Given the description of an element on the screen output the (x, y) to click on. 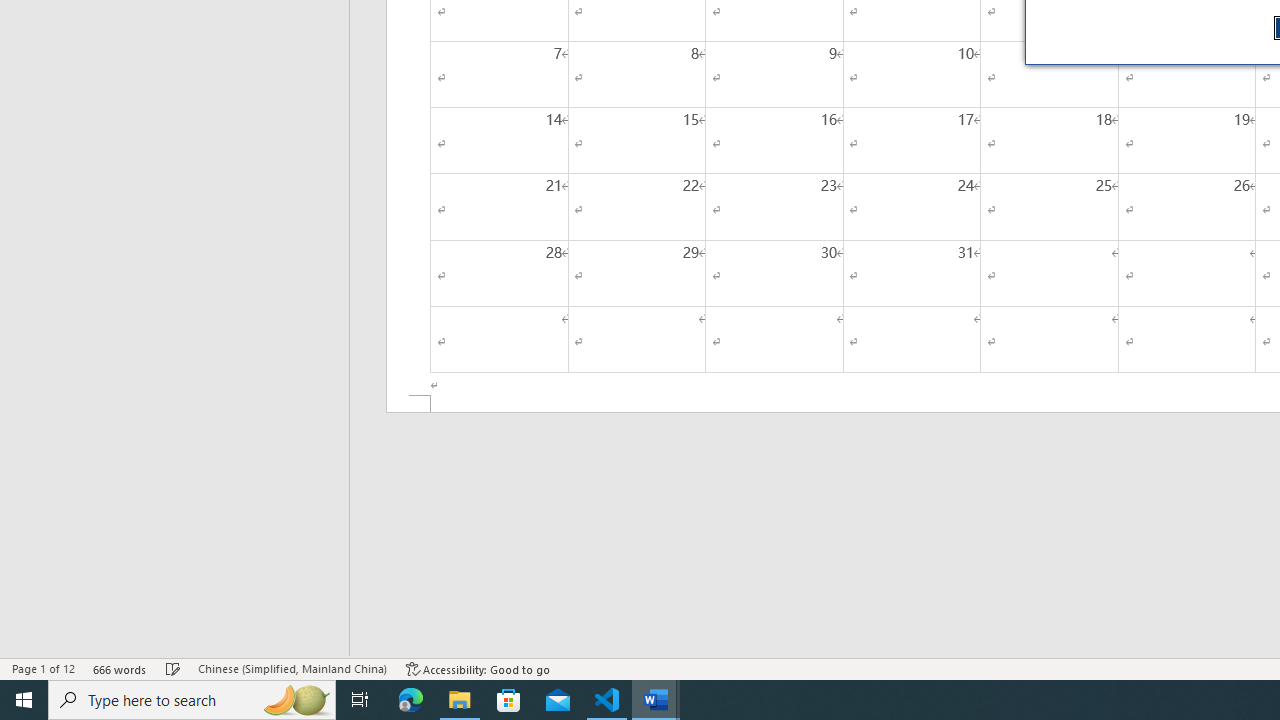
Microsoft Edge (411, 699)
Word - 2 running windows (656, 699)
